Given the description of an element on the screen output the (x, y) to click on. 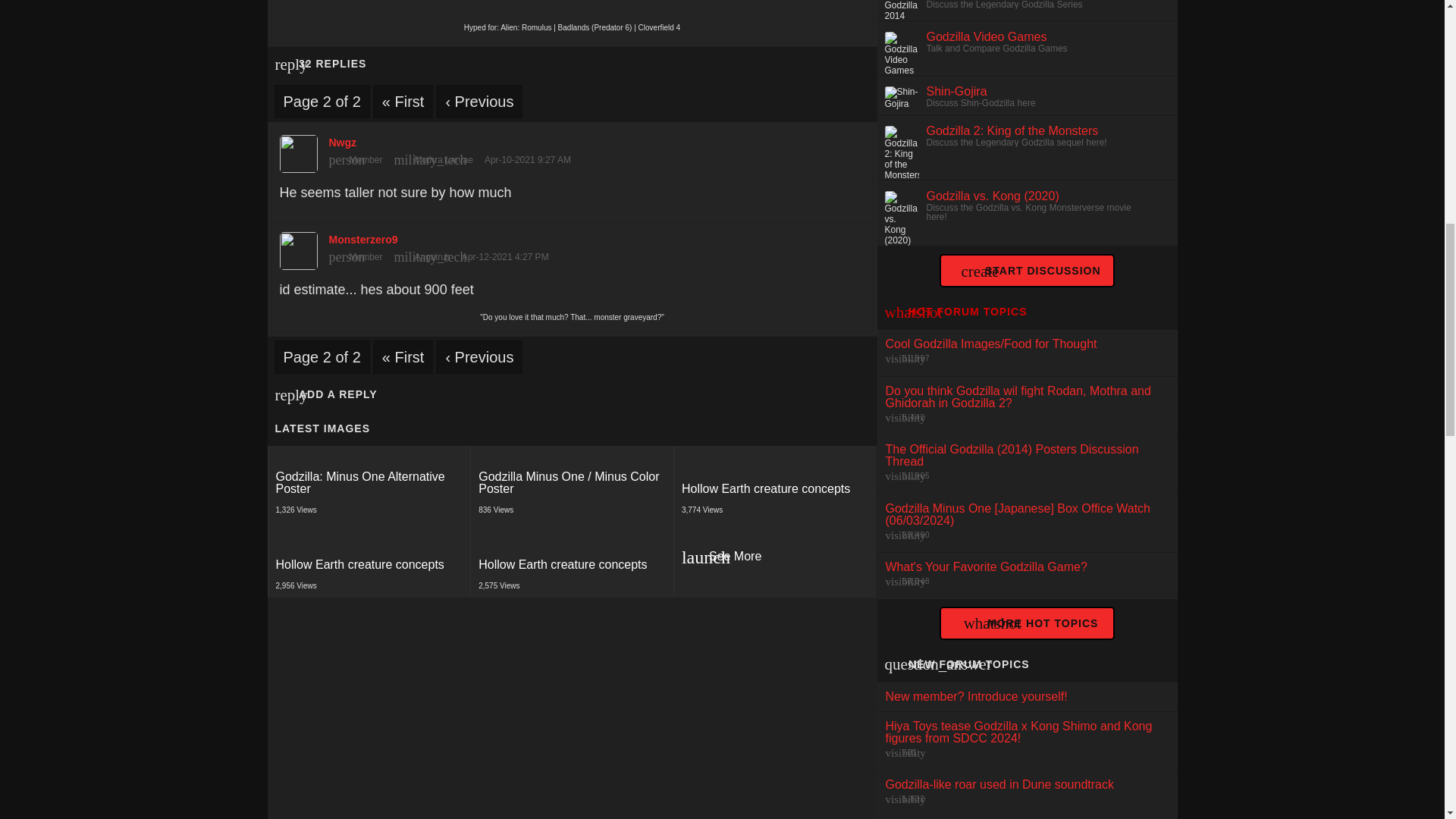
See More (774, 559)
See More (572, 559)
Shin-Gojira (774, 559)
Monsterzero9 (368, 483)
Godzilla Video Games (956, 91)
Godzilla: Minus One Alternative Poster Image (571, 246)
Hollow Earth creature concepts (986, 36)
Page 2 of 2 (369, 482)
See More (368, 483)
